Given the description of an element on the screen output the (x, y) to click on. 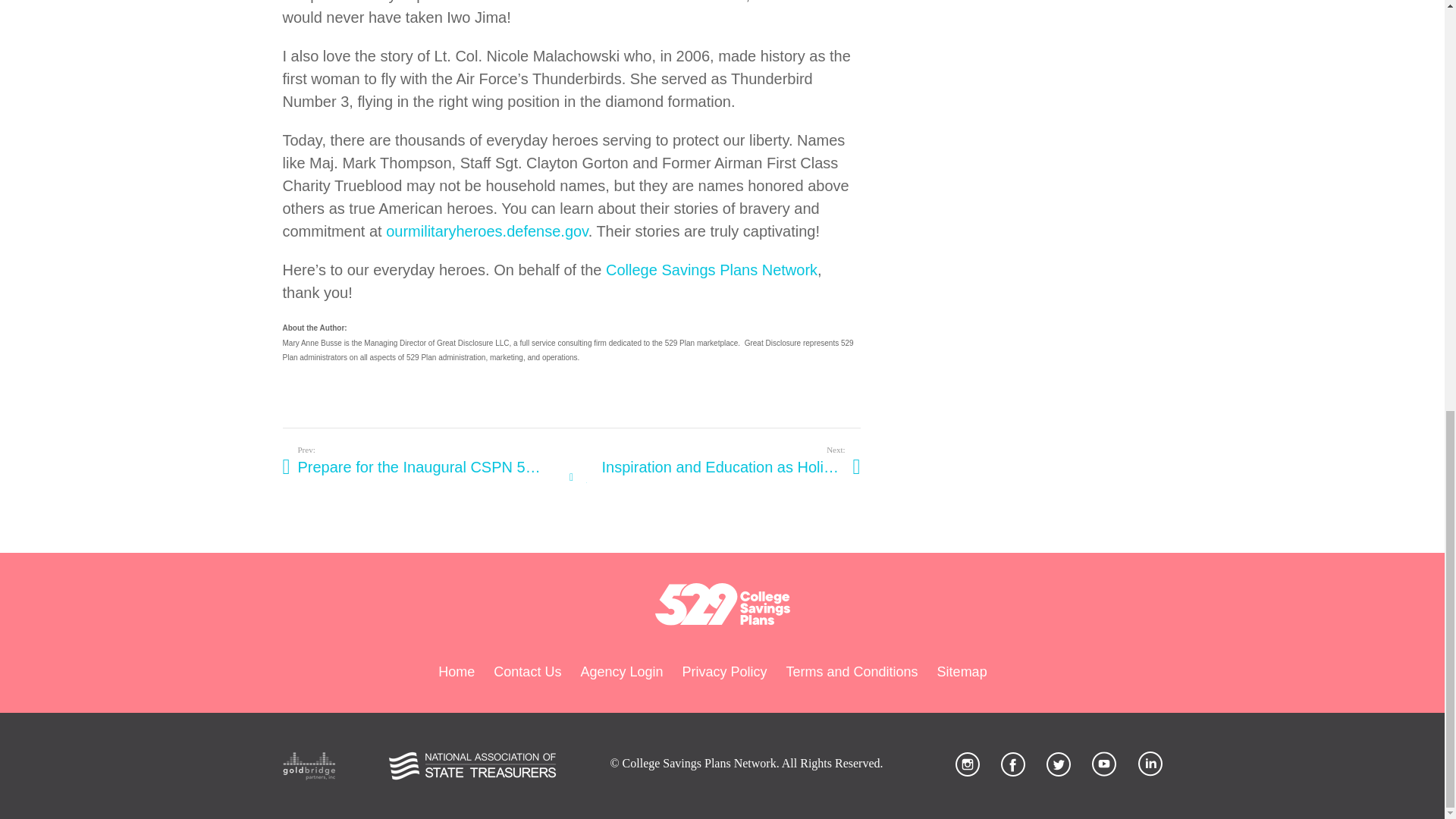
See all entries (571, 477)
